Given the description of an element on the screen output the (x, y) to click on. 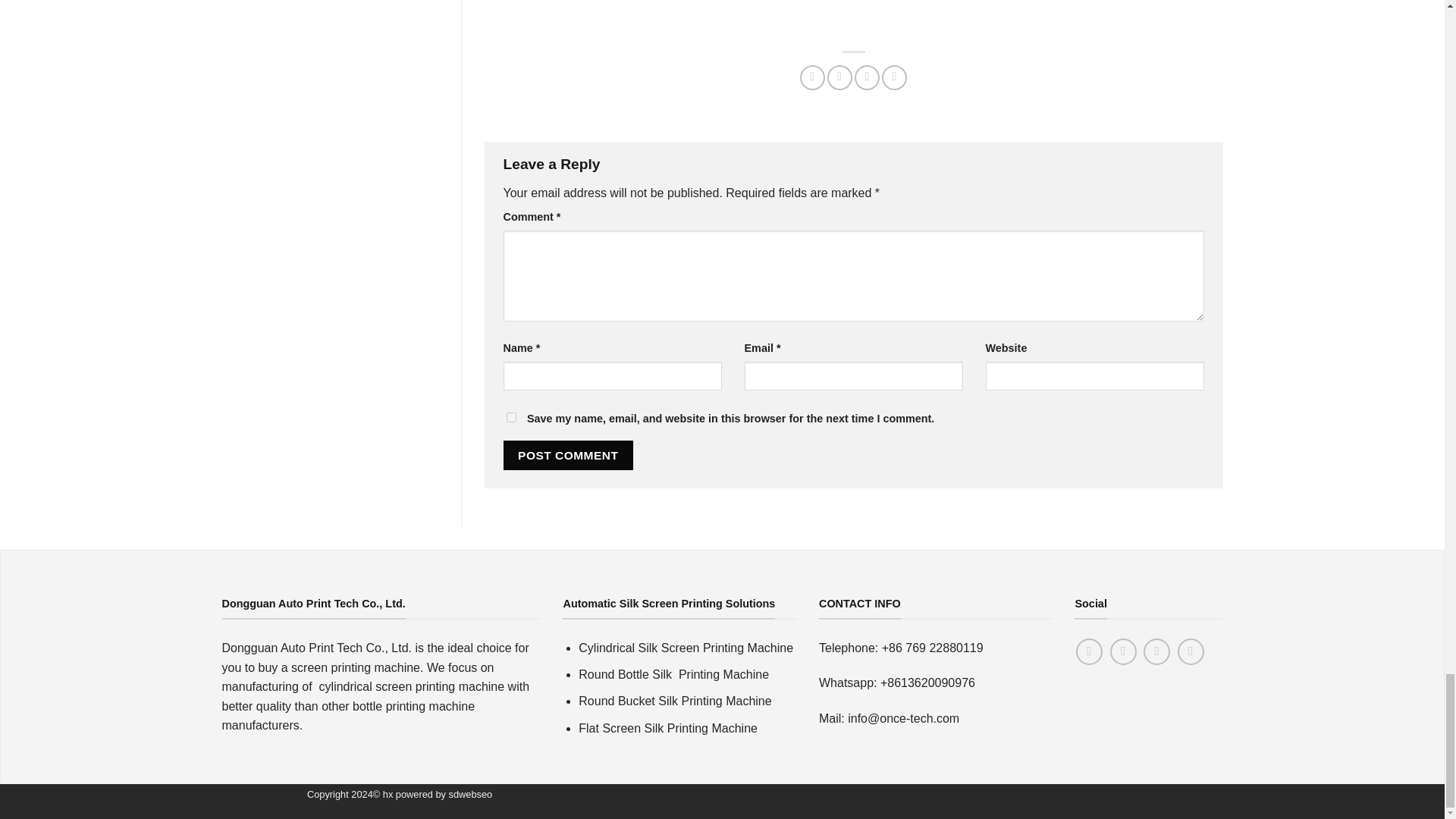
Post Comment (568, 455)
Share on LinkedIn (894, 77)
Follow on Instagram (1123, 651)
Follow on Facebook (1088, 651)
Follow on YouTube (1190, 651)
Share on Twitter (839, 77)
Follow on Twitter (1156, 651)
yes (511, 417)
Share on Facebook (812, 77)
Pin on Pinterest (866, 77)
